Given the description of an element on the screen output the (x, y) to click on. 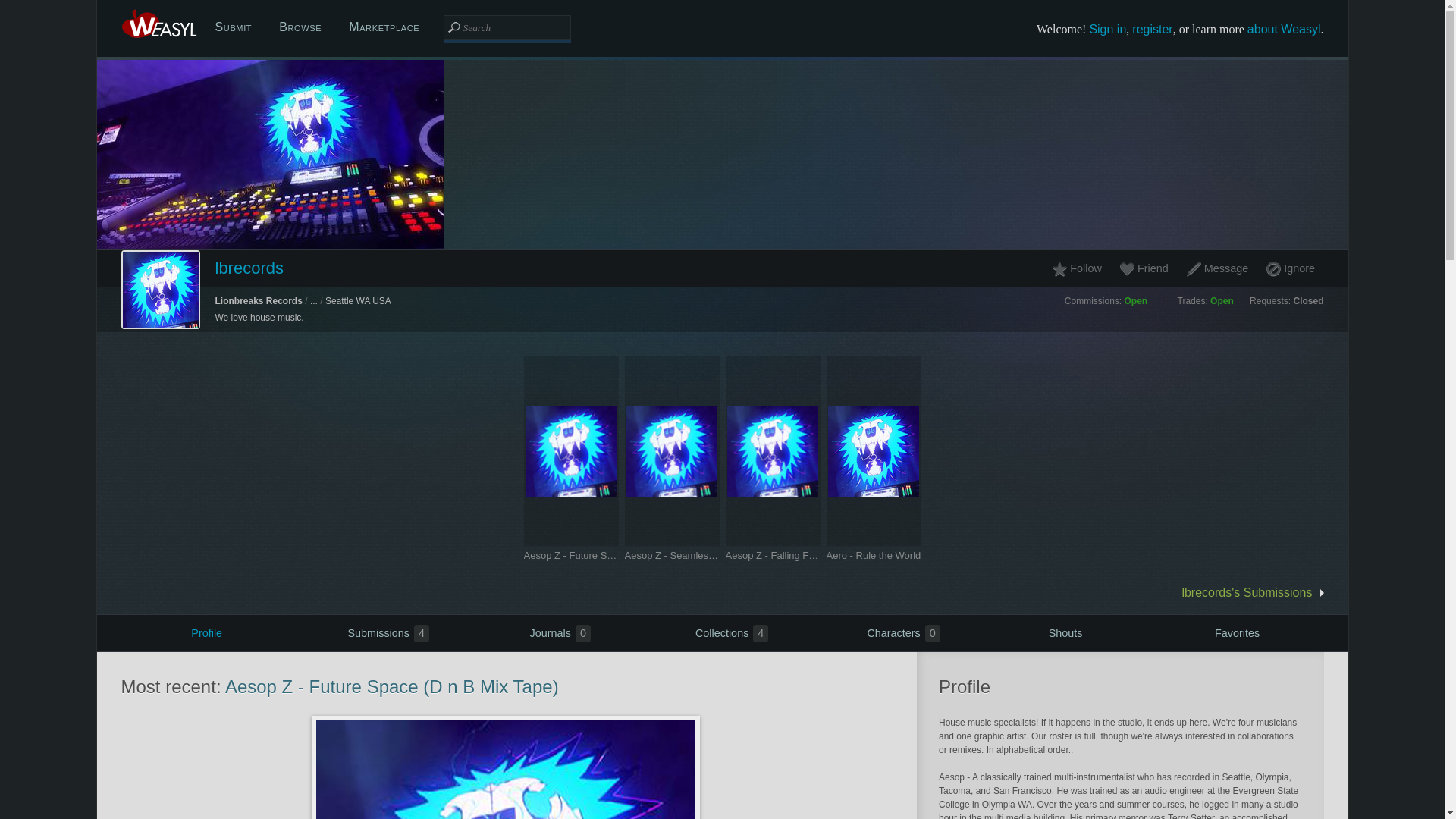
Marketplace (383, 27)
Aero - Rule the World (874, 555)
Aesop Z - Falling Feat. Jaidene Vega (722, 633)
Search Weasyl (772, 555)
Favorites (507, 27)
Sign in (549, 633)
Profile (1236, 633)
Friend (1107, 29)
Submit (206, 633)
register (1142, 268)
Follow (233, 27)
lbrecords's Submissions (1152, 29)
Message (1080, 268)
